Given the description of an element on the screen output the (x, y) to click on. 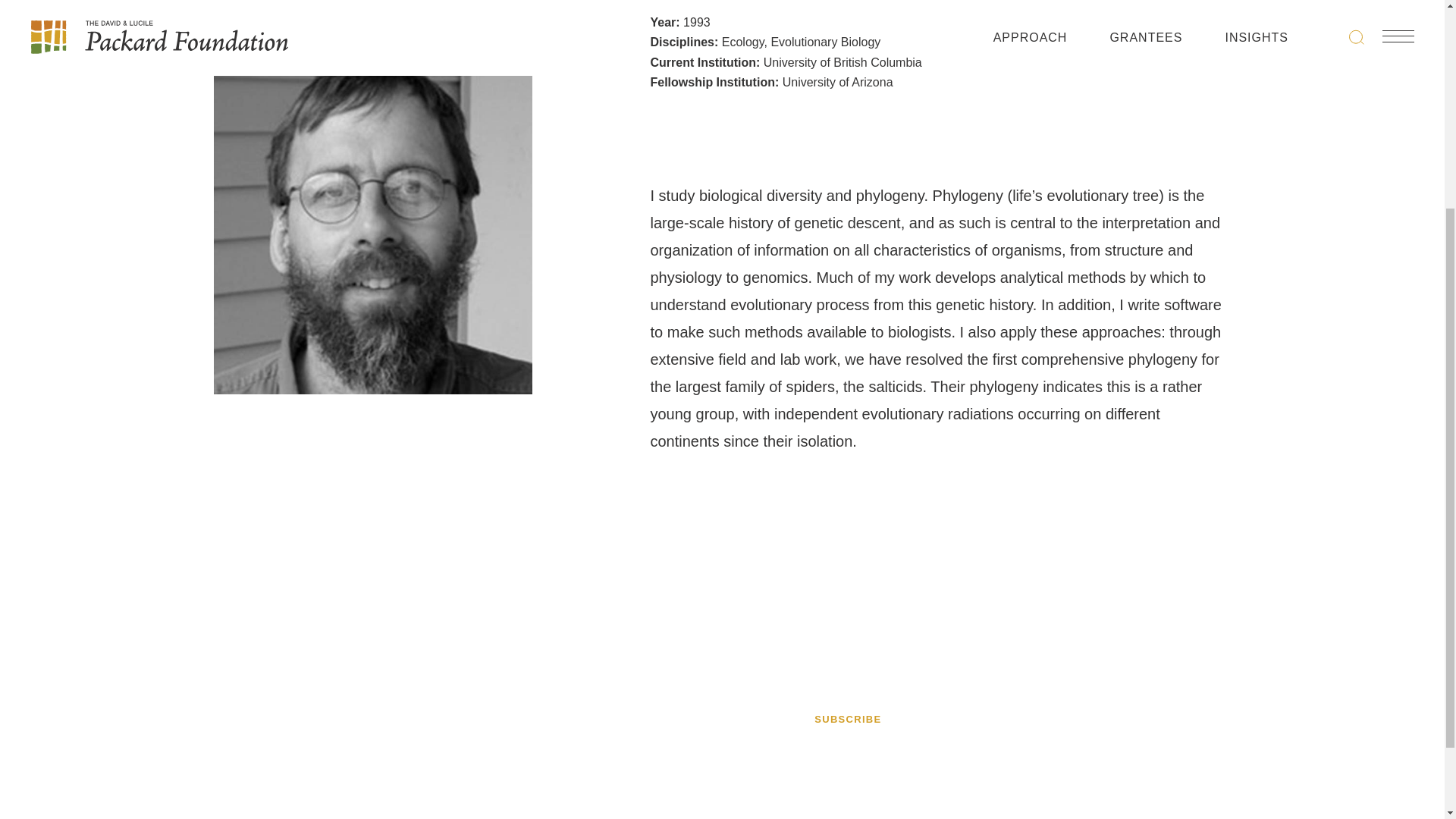
SUBSCRIBE (846, 718)
Our People (1123, 699)
Careers (1113, 659)
